Given the description of an element on the screen output the (x, y) to click on. 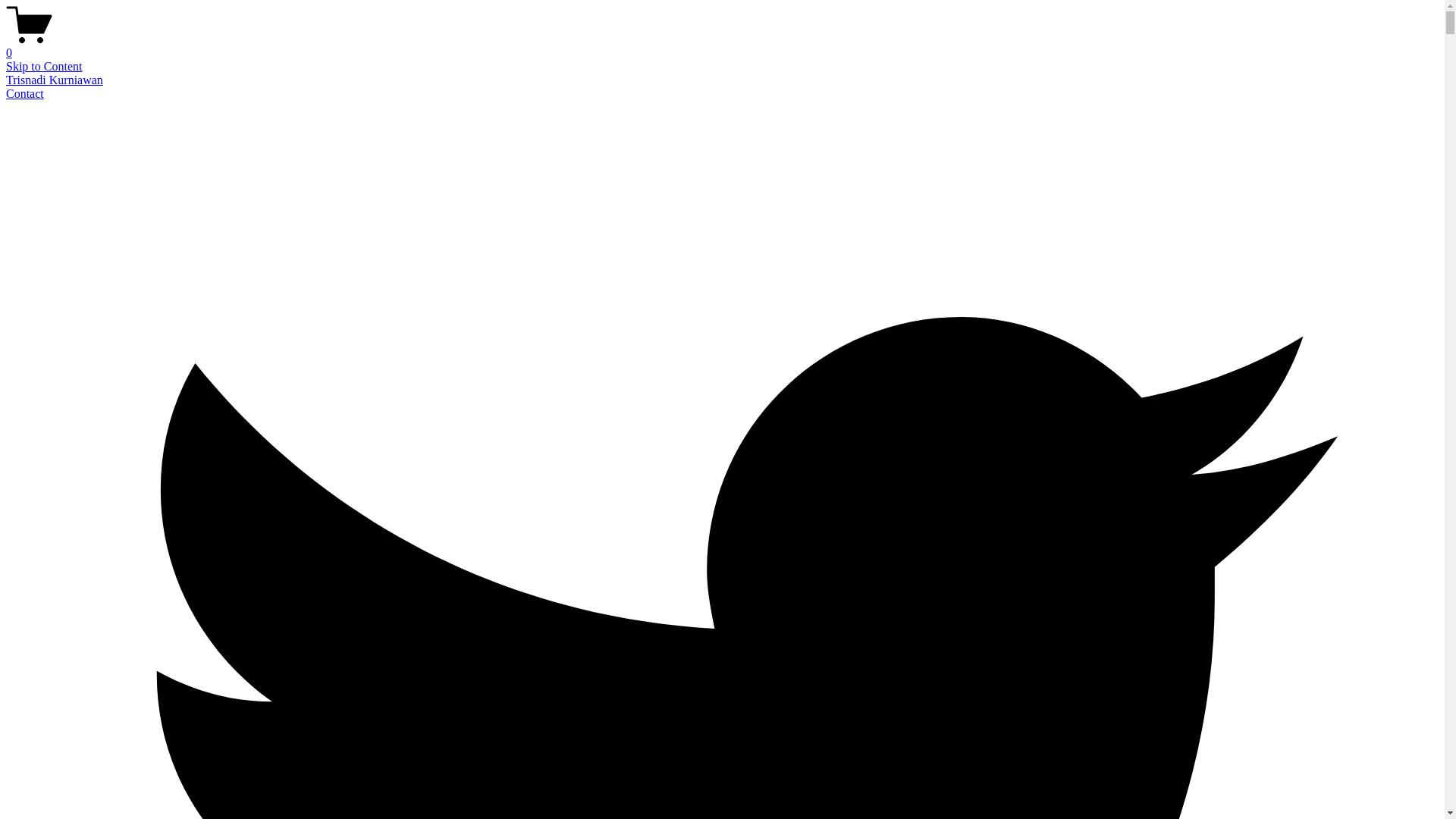
Skip to Content Element type: text (43, 65)
Trisnadi Kurniawan Element type: text (54, 79)
Contact Element type: text (24, 93)
0 Element type: text (722, 45)
